Given the description of an element on the screen output the (x, y) to click on. 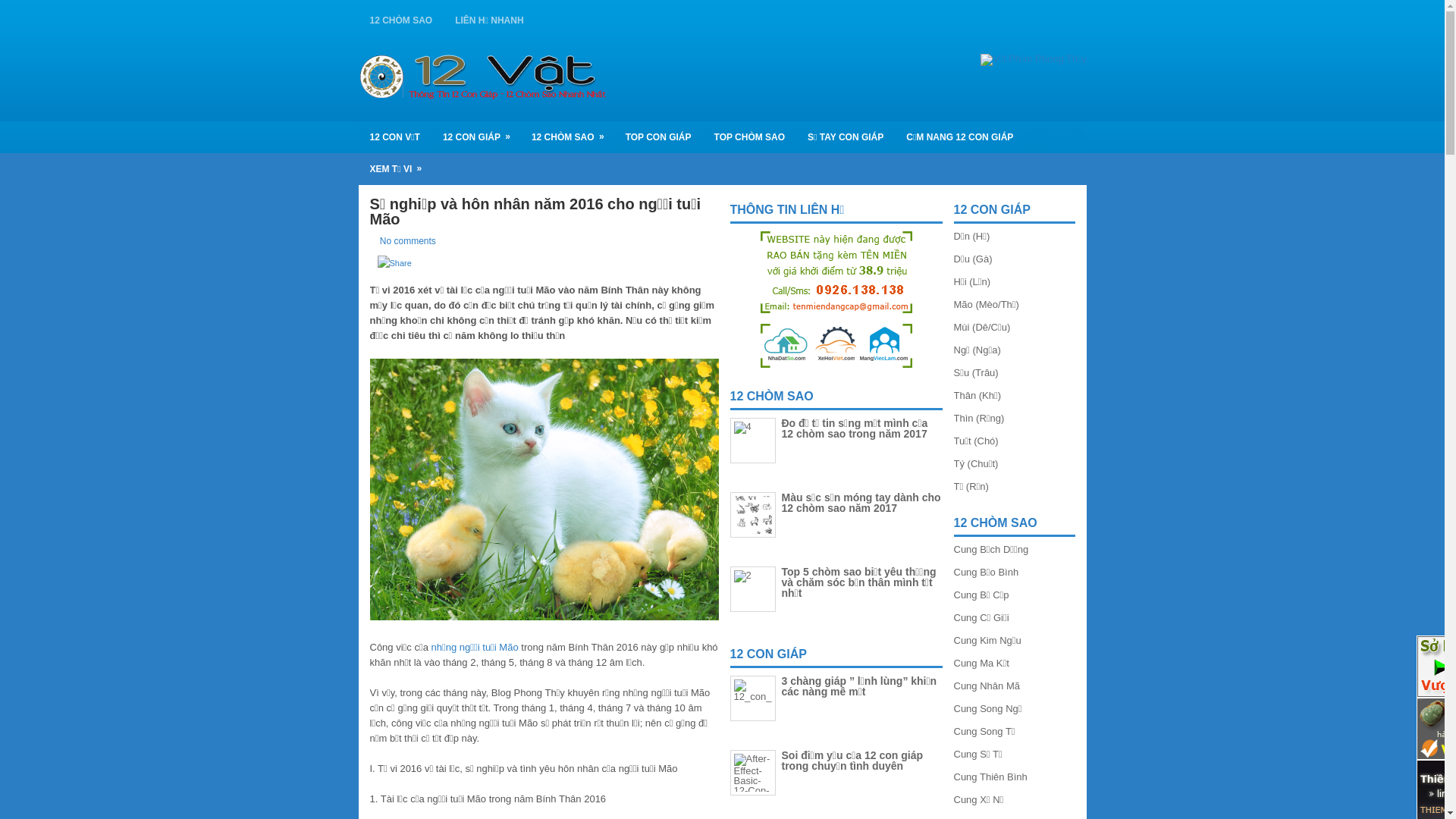
No comments Element type: text (407, 240)
